Given the description of an element on the screen output the (x, y) to click on. 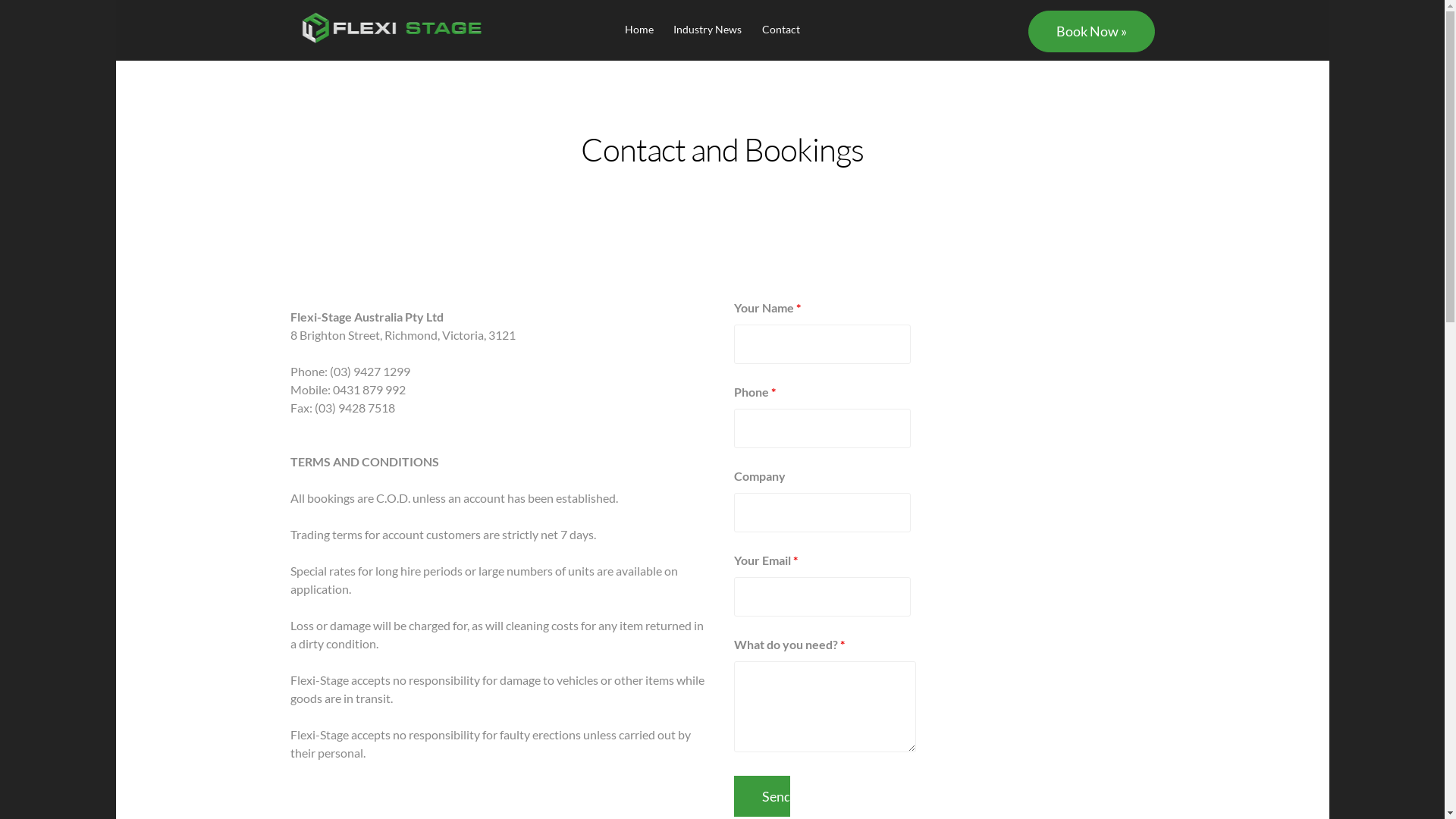
Home Element type: text (638, 28)
Industry News Element type: text (707, 28)
Contact Element type: text (781, 28)
